Given the description of an element on the screen output the (x, y) to click on. 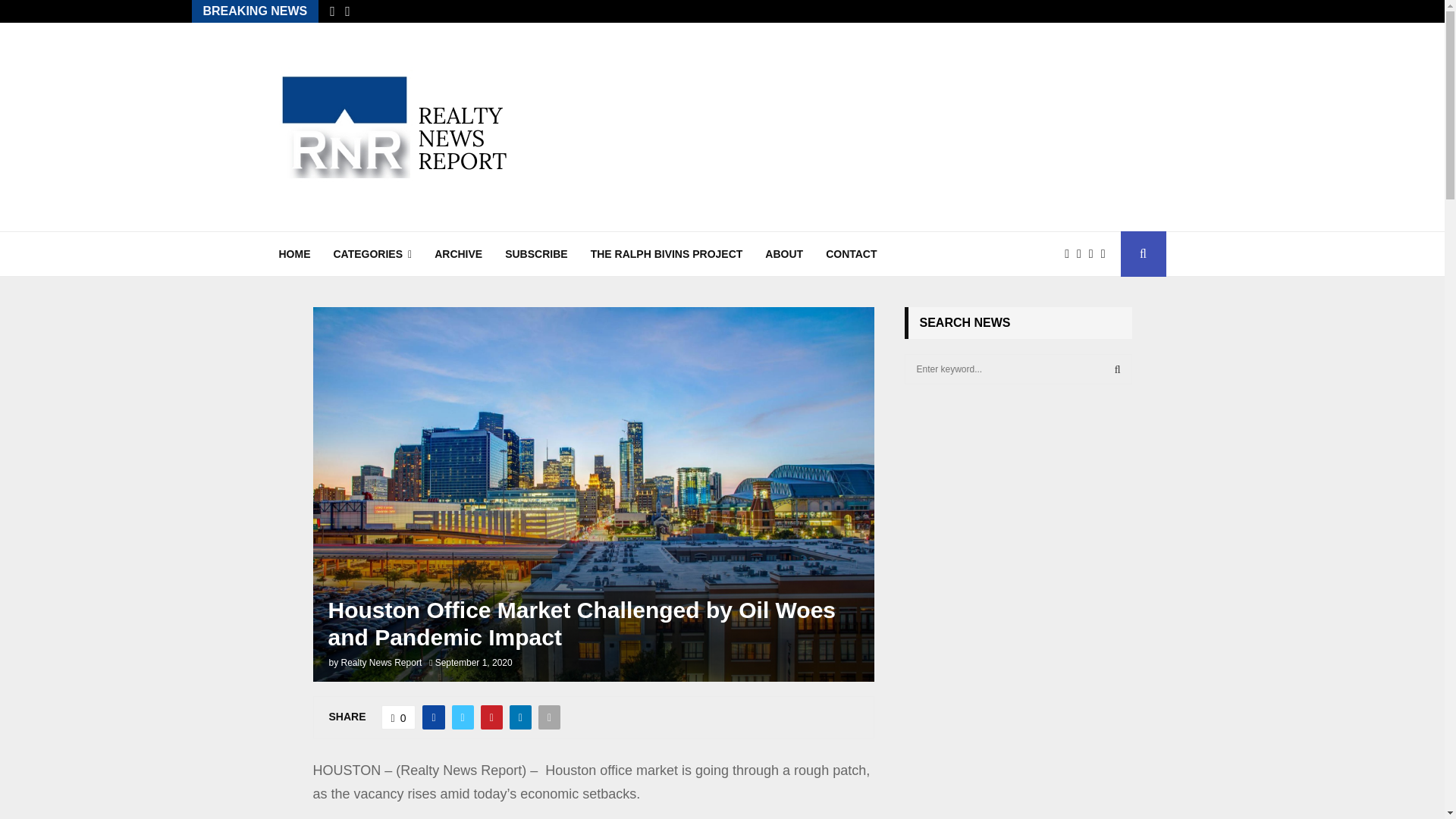
SUBSCRIBE (536, 253)
THE RALPH BIVINS PROJECT (666, 253)
CATEGORIES (372, 253)
CONTACT (850, 253)
Like (398, 717)
ARCHIVE (457, 253)
